Given the description of an element on the screen output the (x, y) to click on. 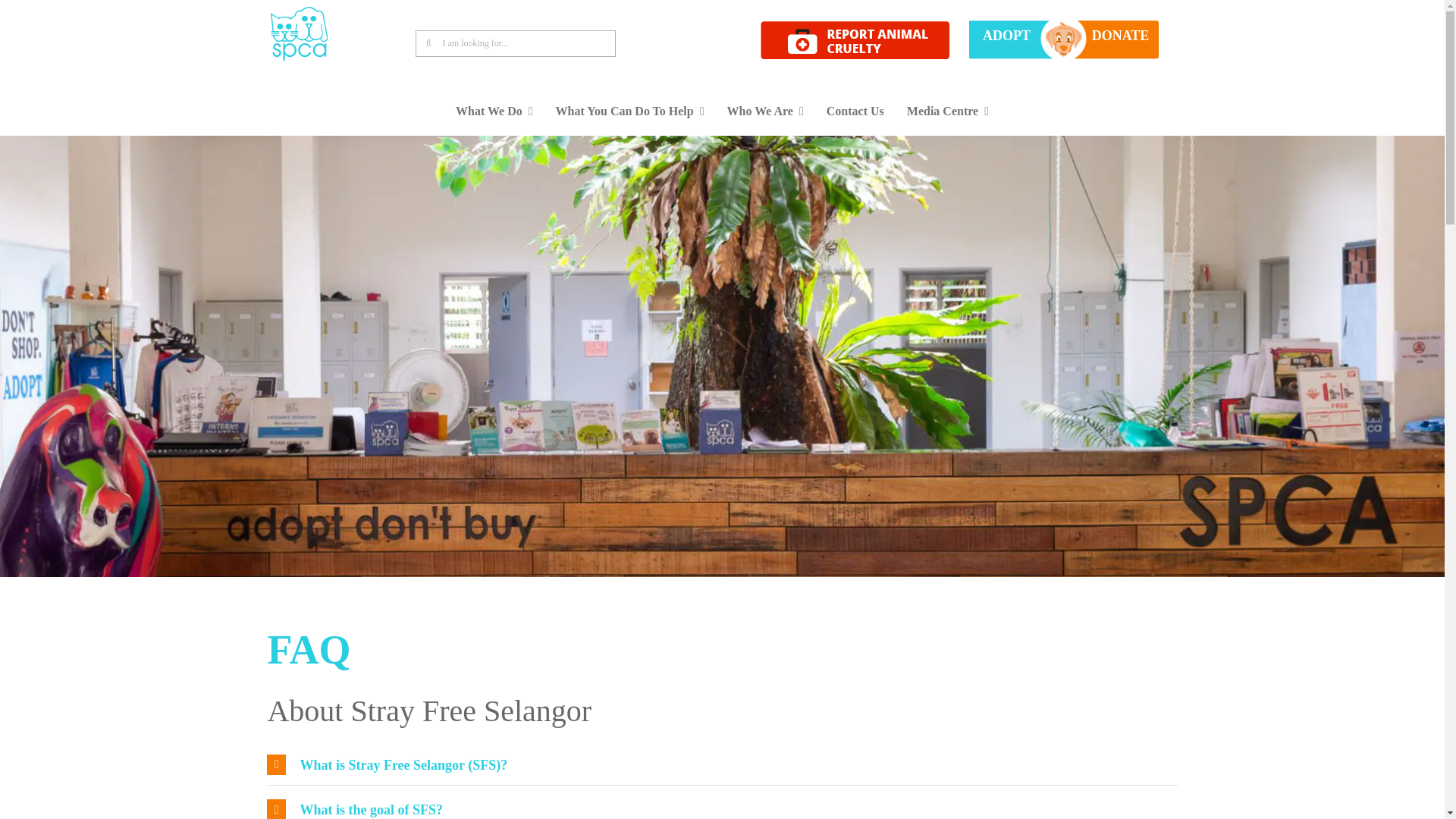
Contact Us (855, 110)
What is the goal of SFS? (721, 802)
ADOPT (1006, 35)
Media Centre (947, 110)
DONATE (1121, 35)
What We Do (494, 110)
Who We Are (765, 110)
What You Can Do To Help (630, 110)
